Given the description of an element on the screen output the (x, y) to click on. 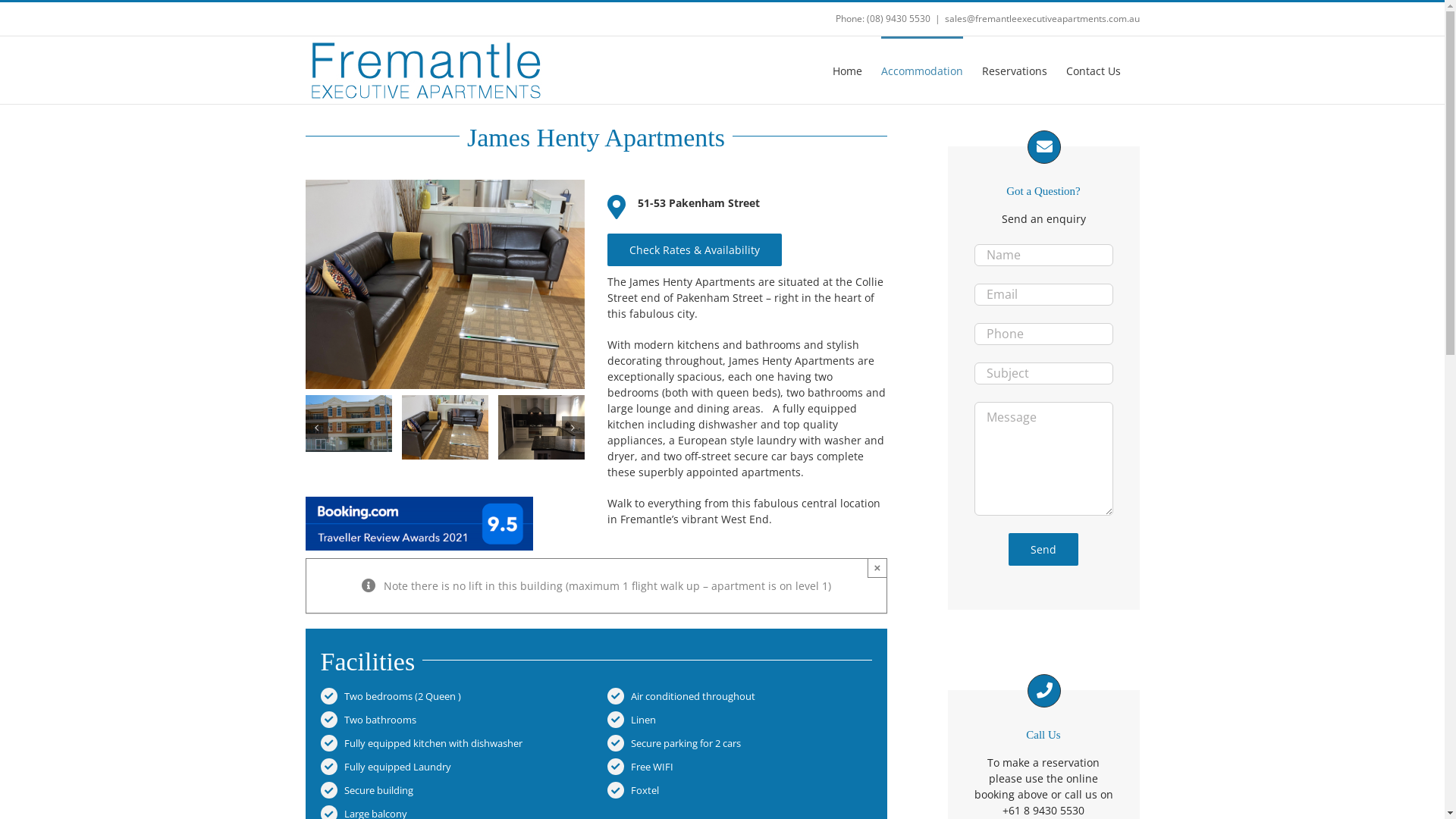
(08) 9430 5530 Element type: text (897, 18)
Home Element type: text (847, 69)
Reservations Element type: text (1013, 69)
james Element type: hover (443, 184)
Accommodation Element type: text (922, 69)
Check Rates & Availability Element type: text (694, 249)
sales@fremantleexecutiveapartments.com.au Element type: text (1041, 18)
Send Element type: text (1043, 549)
Contact Us Element type: text (1093, 69)
James Henty award Element type: hover (418, 523)
